Given the description of an element on the screen output the (x, y) to click on. 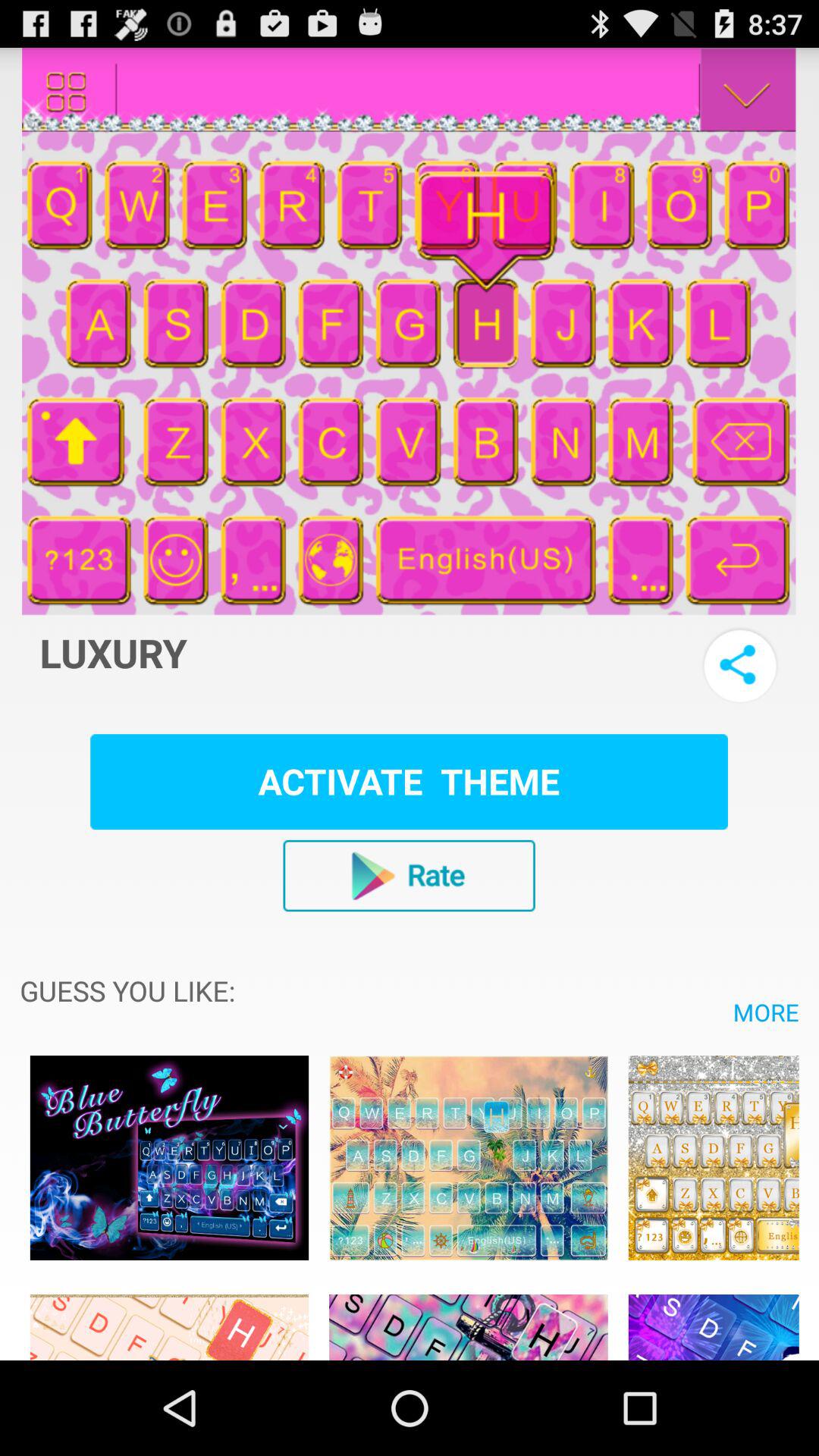
click on the last image in the first row at the bottom of the page (713, 1158)
